Given the description of an element on the screen output the (x, y) to click on. 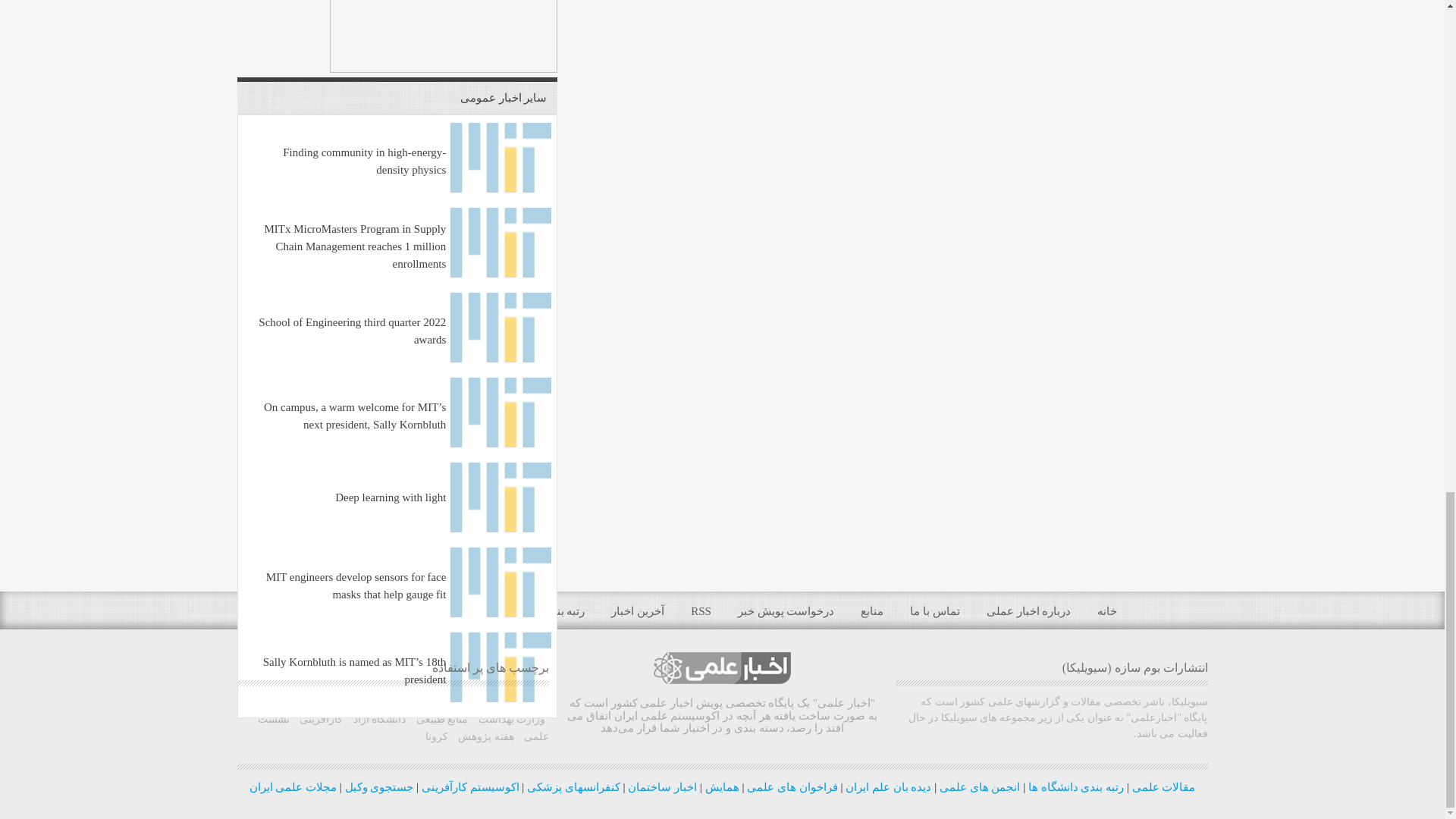
Finding community in high-energy-density physics (500, 188)
School of Engineering third quarter 2022 awards (500, 358)
Deep learning with light (500, 528)
